Given the description of an element on the screen output the (x, y) to click on. 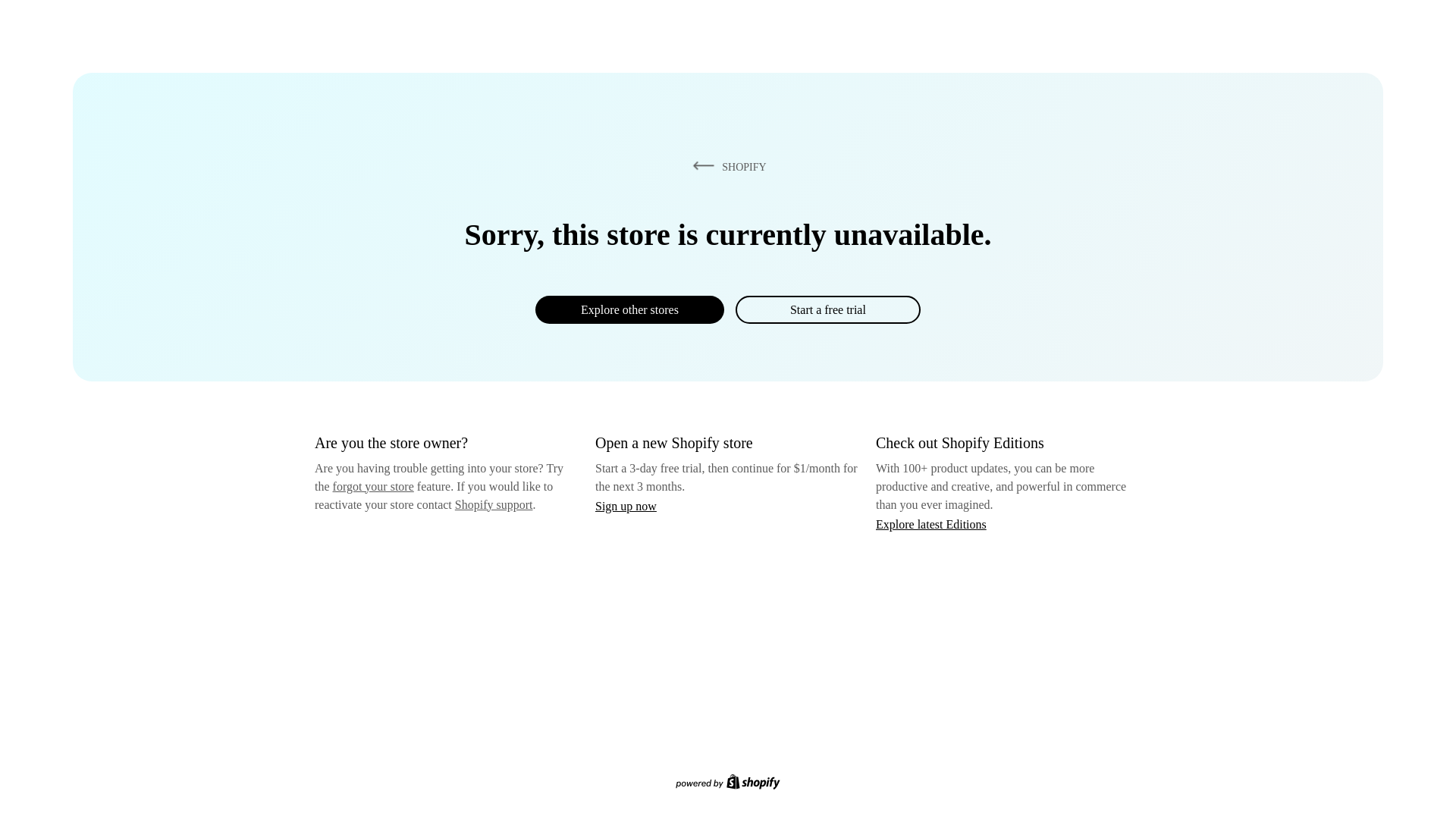
Explore latest Editions (931, 523)
SHOPIFY (726, 166)
Sign up now (625, 505)
Explore other stores (629, 309)
forgot your store (373, 486)
Start a free trial (827, 309)
Shopify support (493, 504)
